Given the description of an element on the screen output the (x, y) to click on. 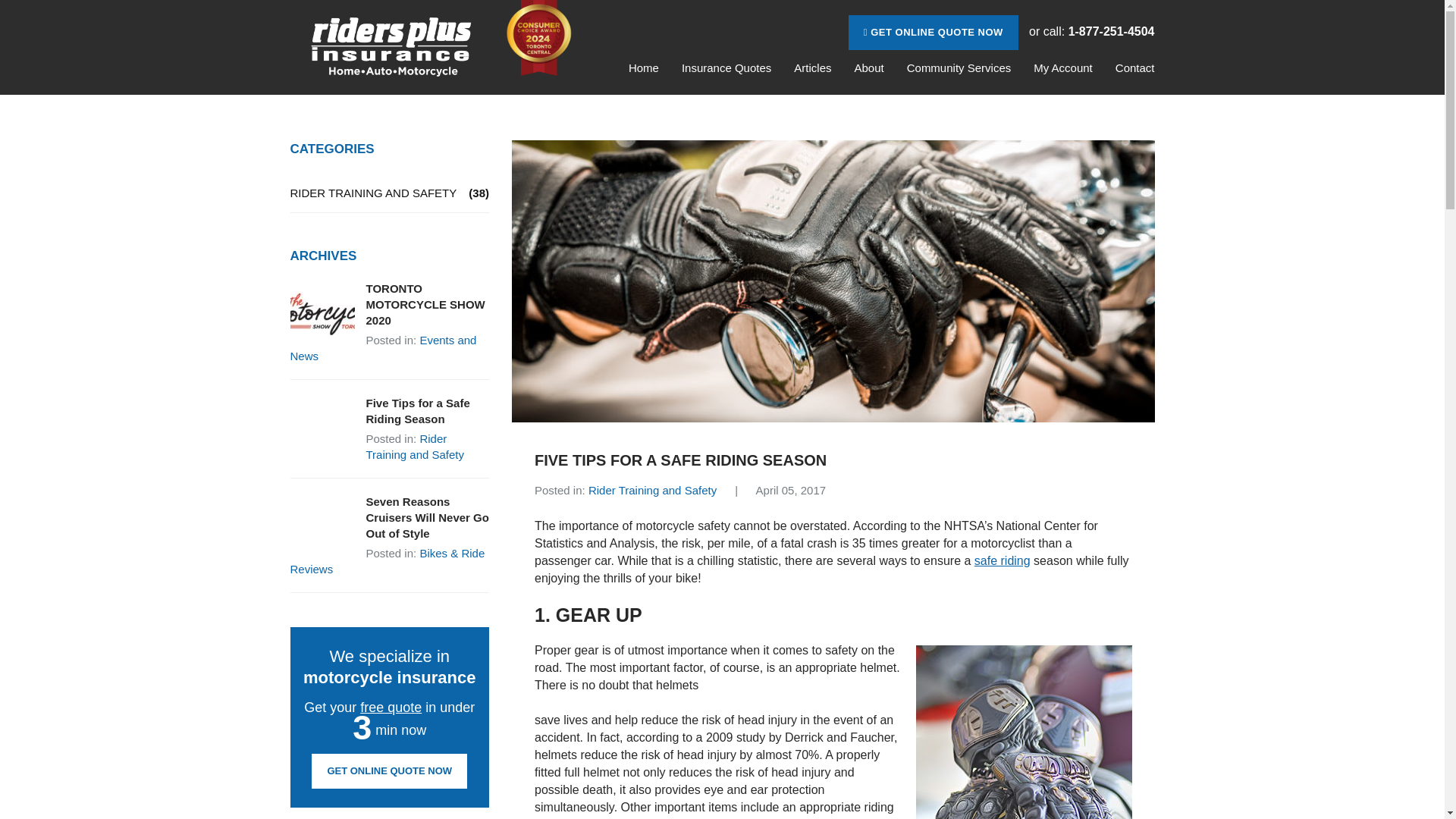
GET ONLINE QUOTE NOW (933, 32)
Rider Training and Safety (414, 446)
Home (643, 68)
Community Services (959, 68)
or call: 1-877-251-4504 (1091, 31)
Seven Reasons Cruisers Will Never Go Out of Style (389, 517)
Five Tips for a Safe Riding Season (389, 410)
Events and News (382, 347)
TORONTO MOTORCYCLE SHOW 2020 (389, 304)
About (868, 68)
